Given the description of an element on the screen output the (x, y) to click on. 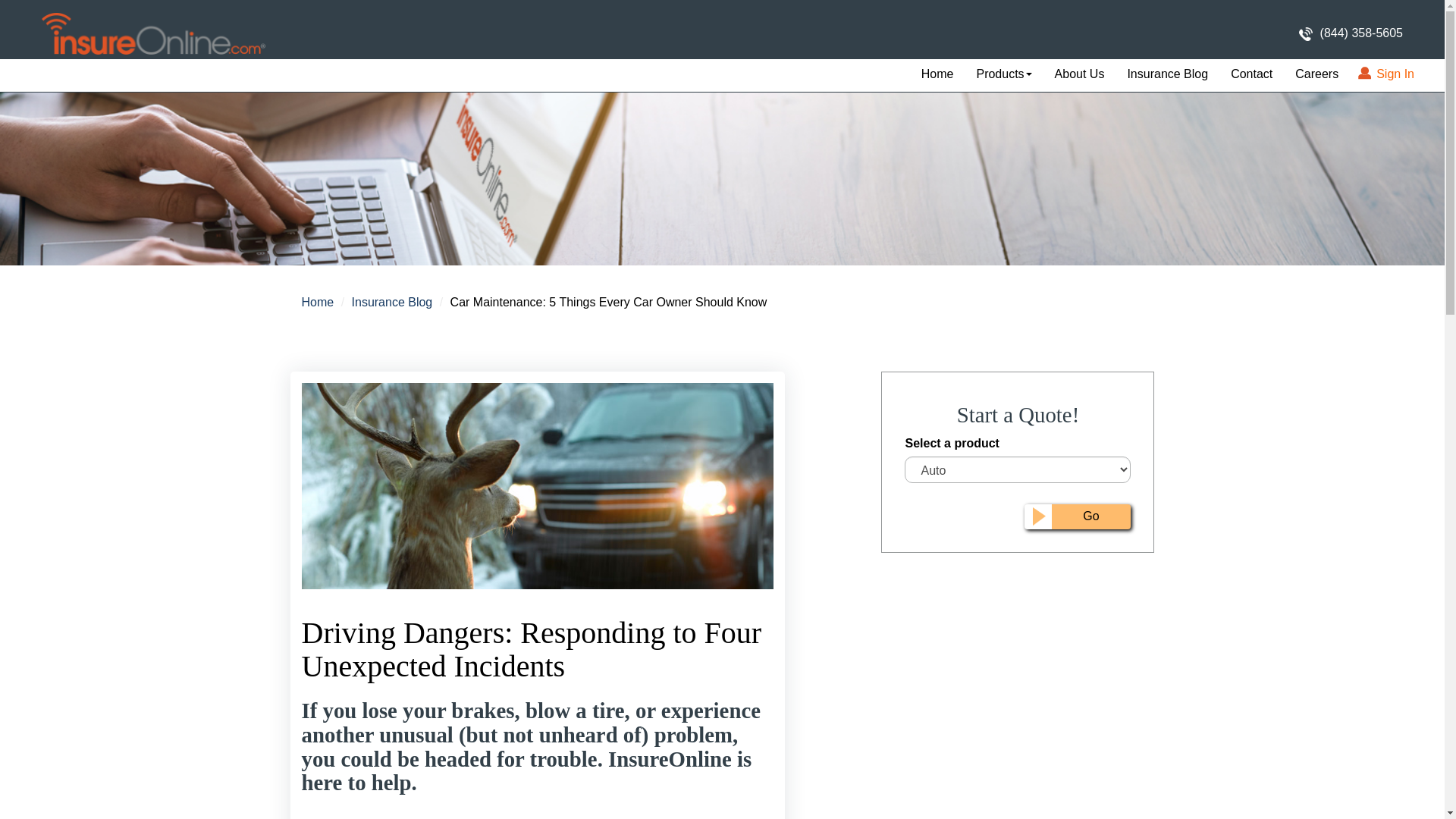
Contact (1252, 74)
Insurance Blog (392, 301)
Home (317, 301)
Go (1078, 516)
About Us (1079, 74)
Home (937, 74)
Careers (1316, 74)
Products (1002, 74)
Sign In (1387, 74)
Insurance Blog (1167, 74)
